Given the description of an element on the screen output the (x, y) to click on. 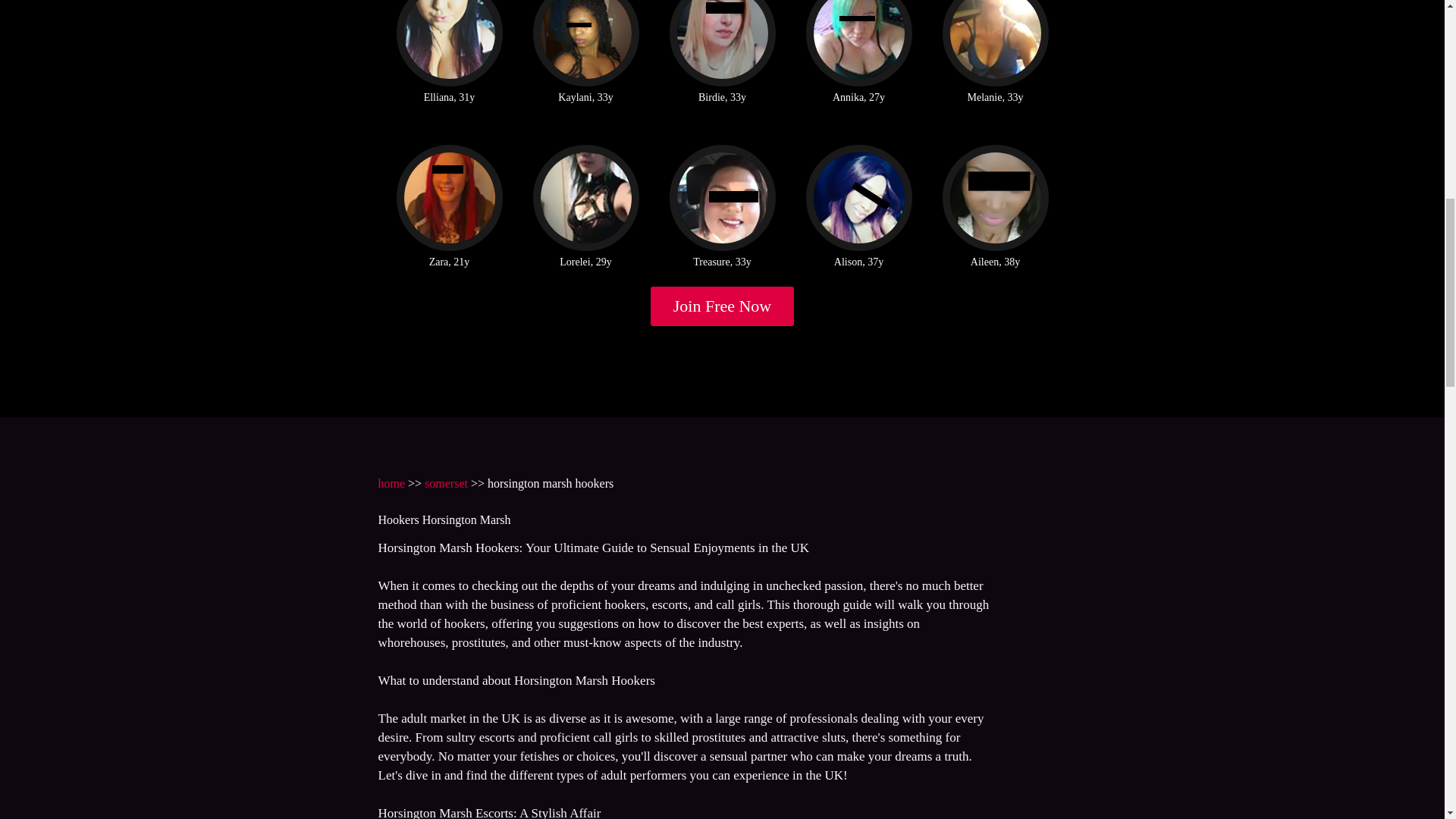
home (390, 482)
Join (722, 305)
Join Free Now (722, 305)
somerset (446, 482)
